Given the description of an element on the screen output the (x, y) to click on. 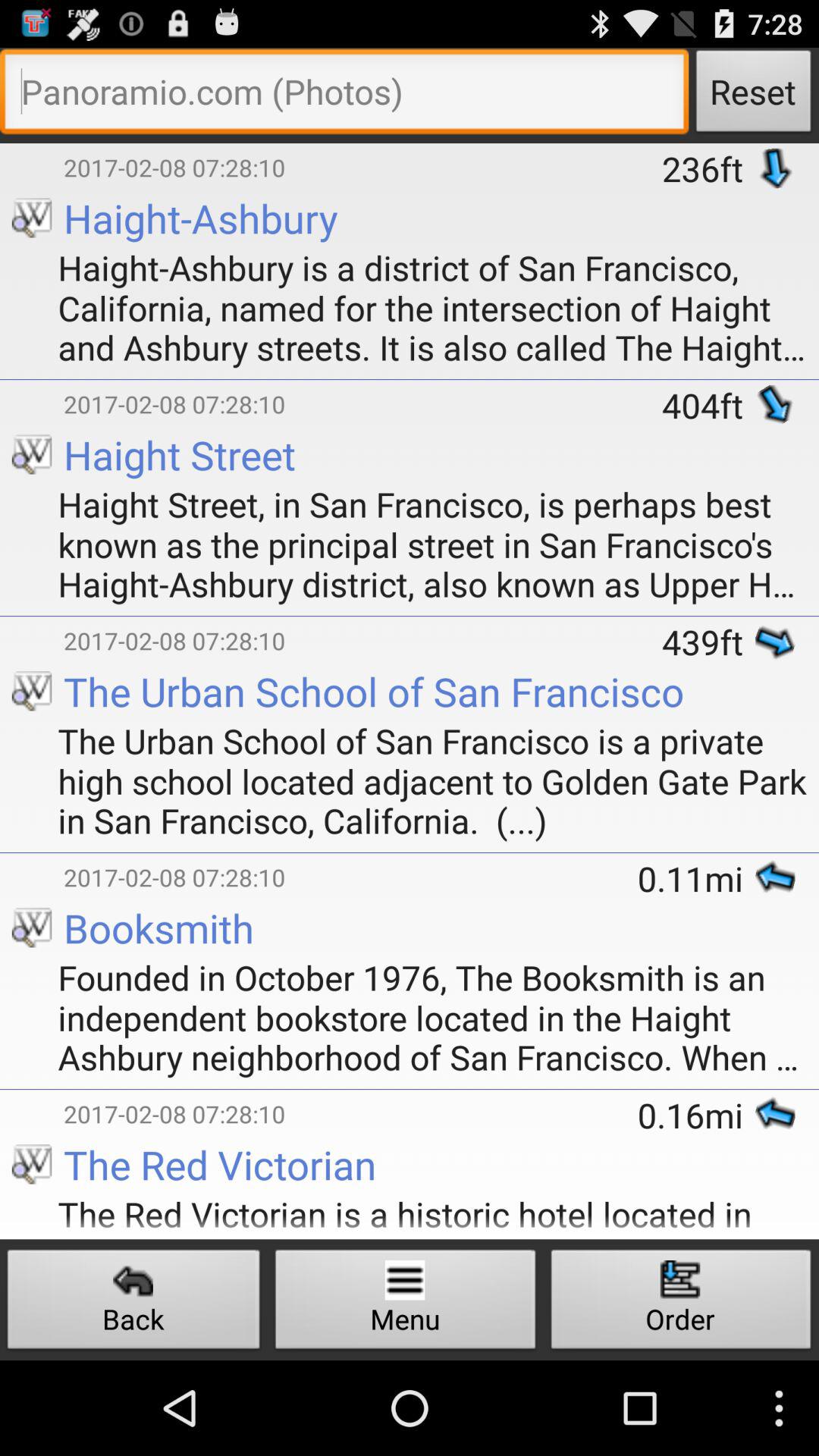
tap the icon next to haight ashbury is (13, 246)
